Given the description of an element on the screen output the (x, y) to click on. 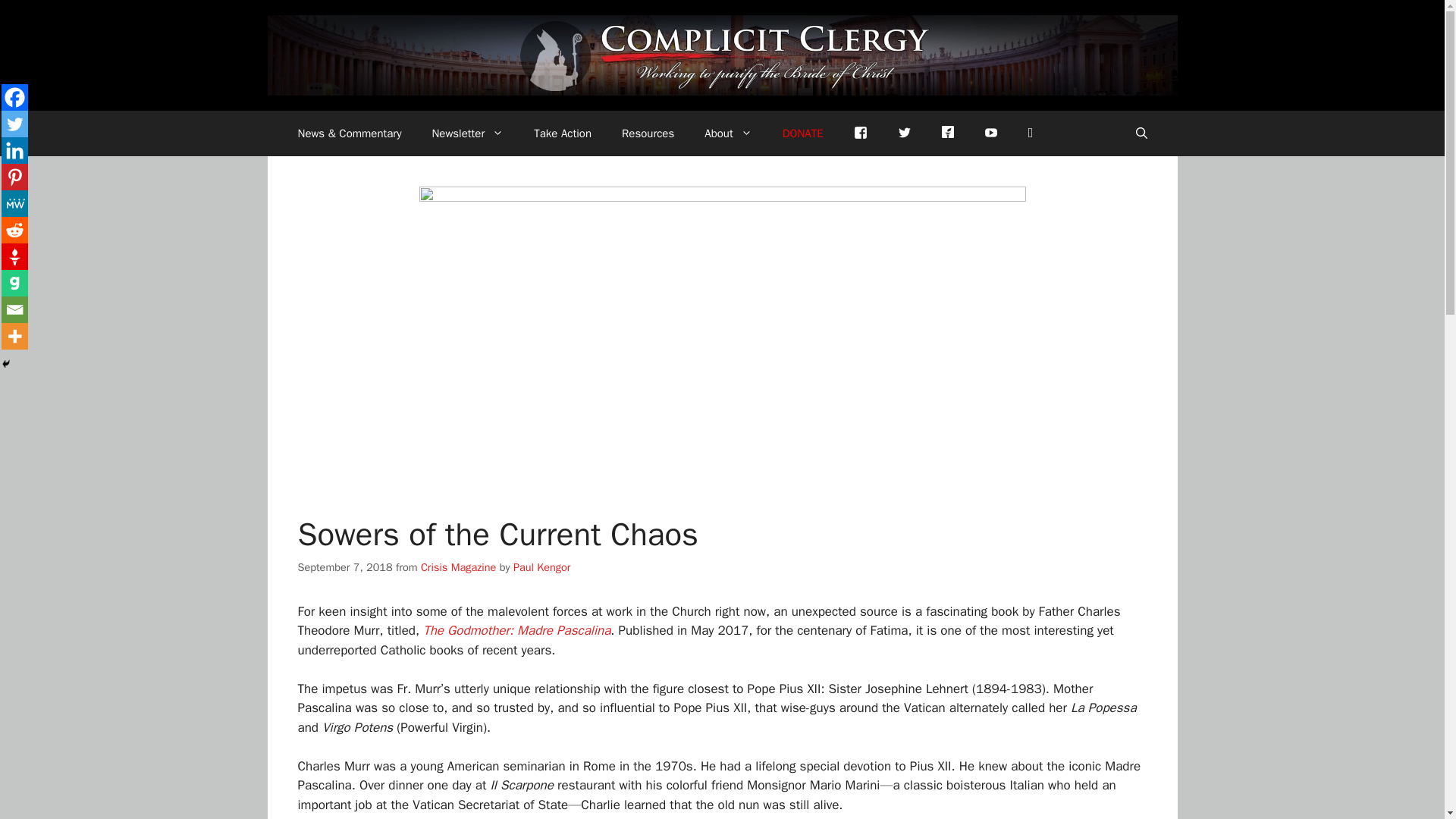
Twitter (904, 133)
Newsletter (467, 133)
Resources (647, 133)
About (727, 133)
Take Action (562, 133)
DONATE (802, 133)
Gettr (947, 130)
Linkedin (14, 150)
YouTube (991, 133)
Facebook (14, 97)
The Godmother: Madre Pascalina (516, 630)
Crisis Magazine (458, 567)
Paul Kengor (541, 567)
Twitter (14, 123)
Facebook (860, 133)
